Given the description of an element on the screen output the (x, y) to click on. 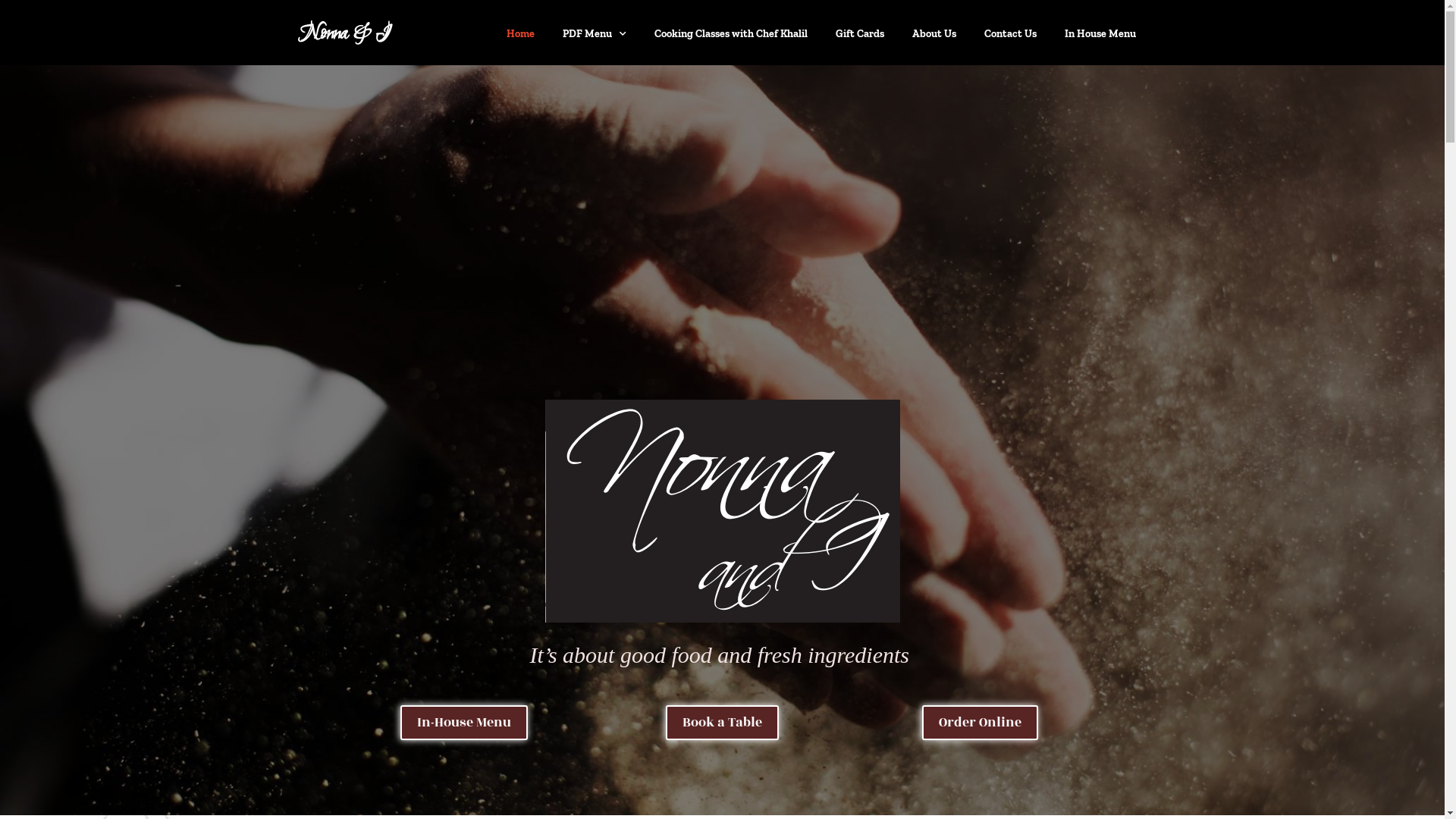
In House Menu Element type: text (1099, 33)
Home Element type: text (519, 33)
About Us Element type: text (933, 33)
Gift Cards Element type: text (858, 33)
Cooking Classes with Chef Khalil Element type: text (731, 33)
PDF Menu Element type: text (593, 33)
In-House Menu Element type: text (463, 722)
Order Online Element type: text (980, 722)
Contact Us Element type: text (1009, 33)
Book a Table Element type: text (721, 722)
